Given the description of an element on the screen output the (x, y) to click on. 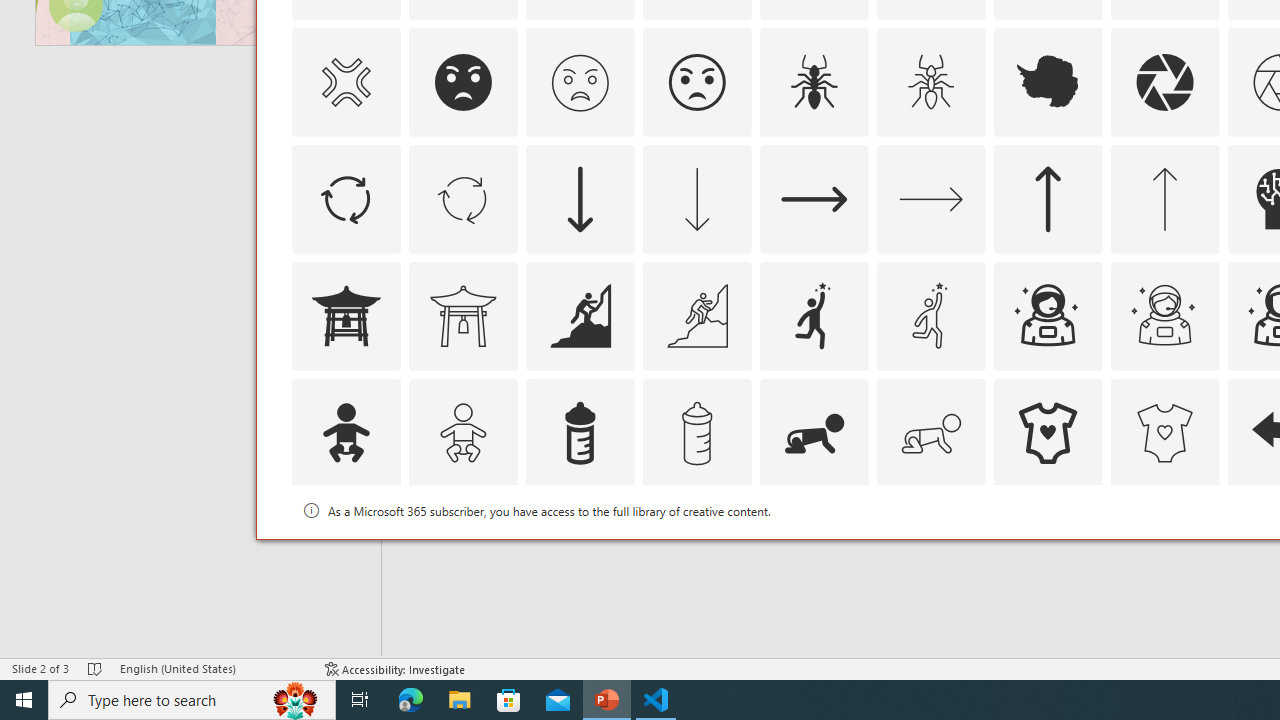
AutomationID: Icons_Baby (345, 432)
AutomationID: Icons_ArrowRight (813, 198)
Microsoft Edge (411, 699)
Thumbnail (1204, 511)
AutomationID: Icons_Badge4 (930, 550)
AutomationID: Icons_BabyOnesie_M (1164, 432)
AutomationID: Icons_BabyBottle_M (696, 432)
